Given the description of an element on the screen output the (x, y) to click on. 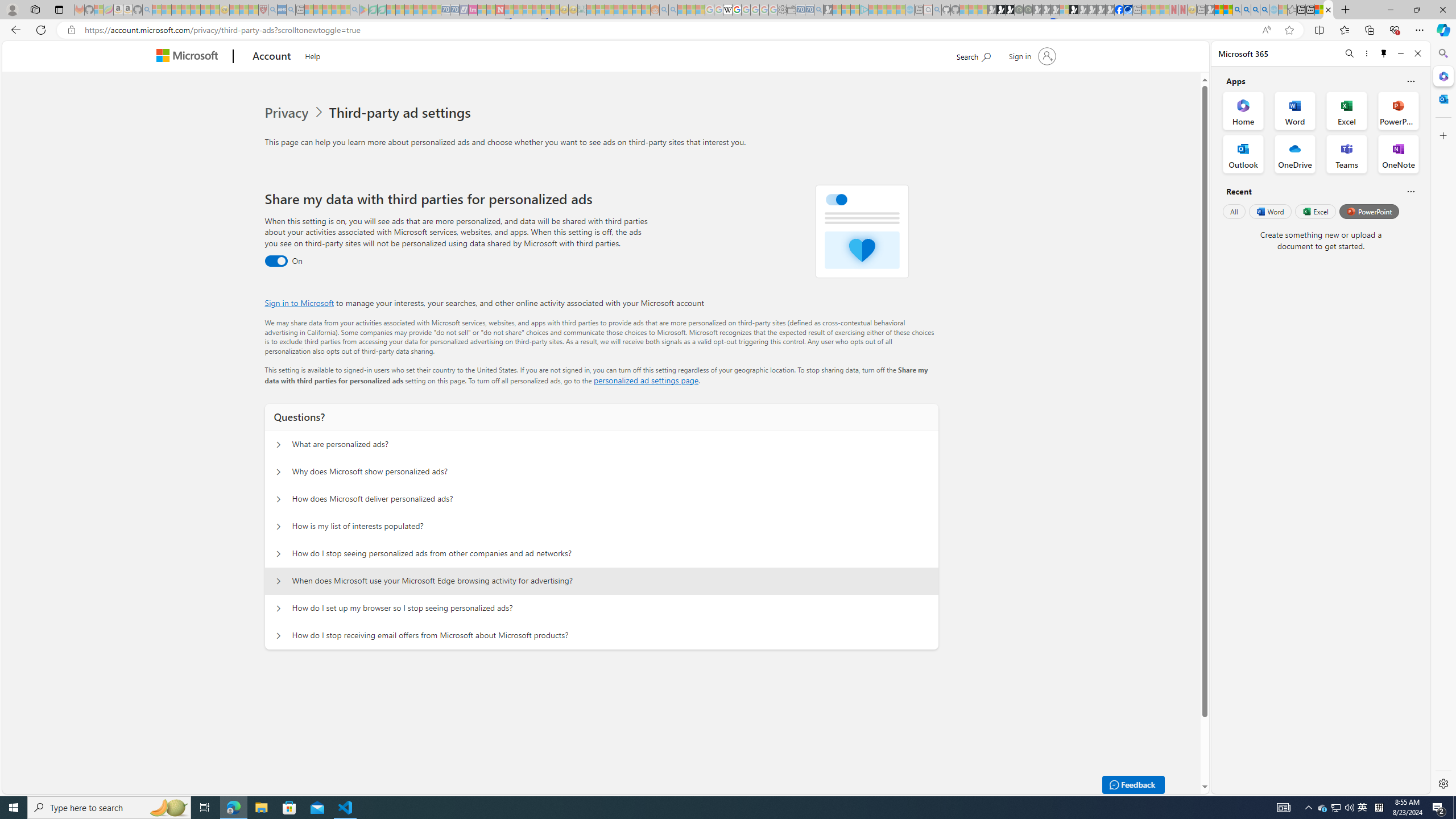
Home Office App (1243, 110)
